Given the description of an element on the screen output the (x, y) to click on. 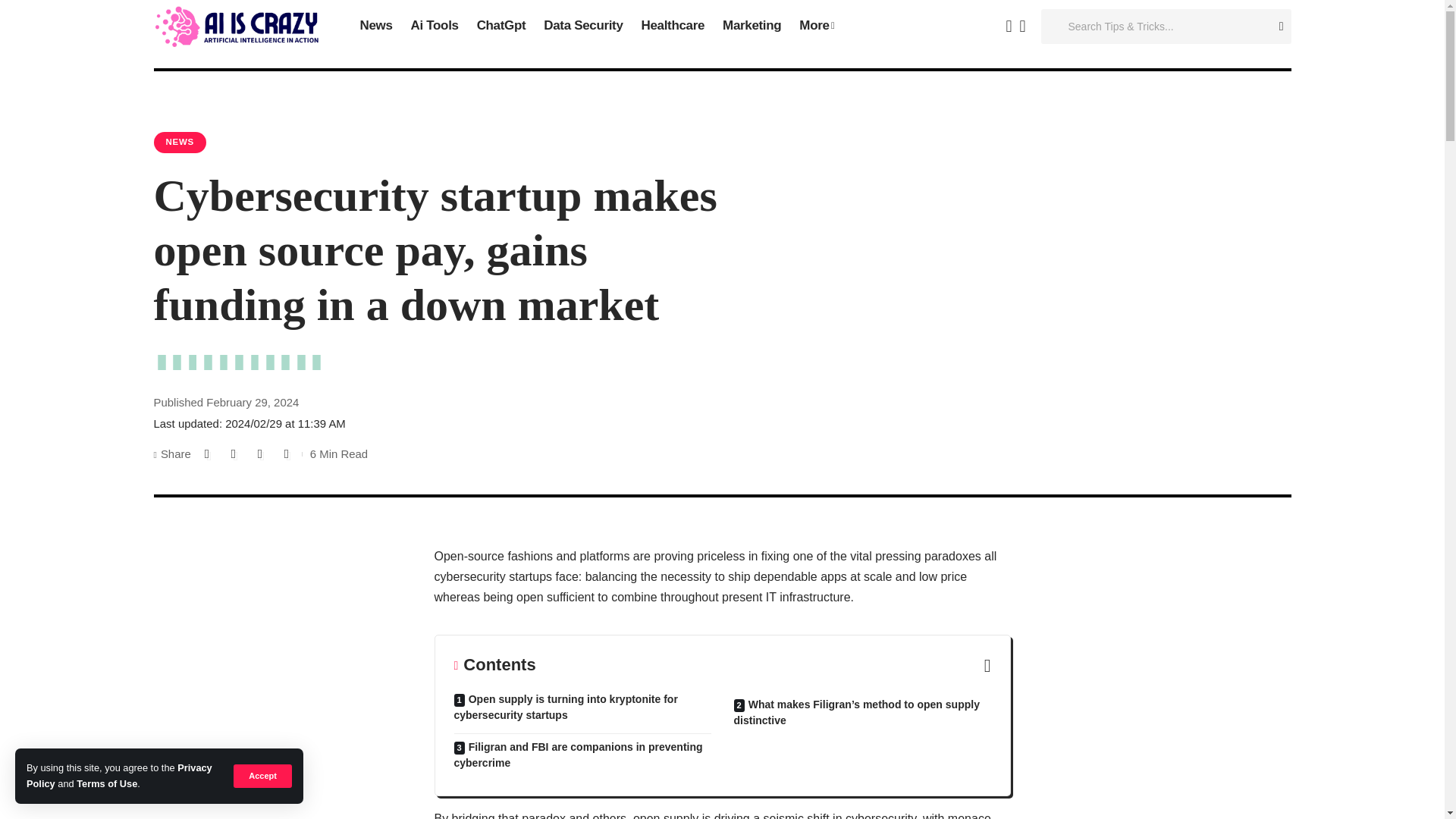
ChatGpt (501, 26)
More (816, 26)
Accept (262, 775)
Privacy Policy (119, 775)
Data Security (582, 26)
Ai Tools (434, 26)
Marketing (751, 26)
Search (1275, 26)
News (375, 26)
Healthcare (672, 26)
Terms of Use (106, 783)
